Given the description of an element on the screen output the (x, y) to click on. 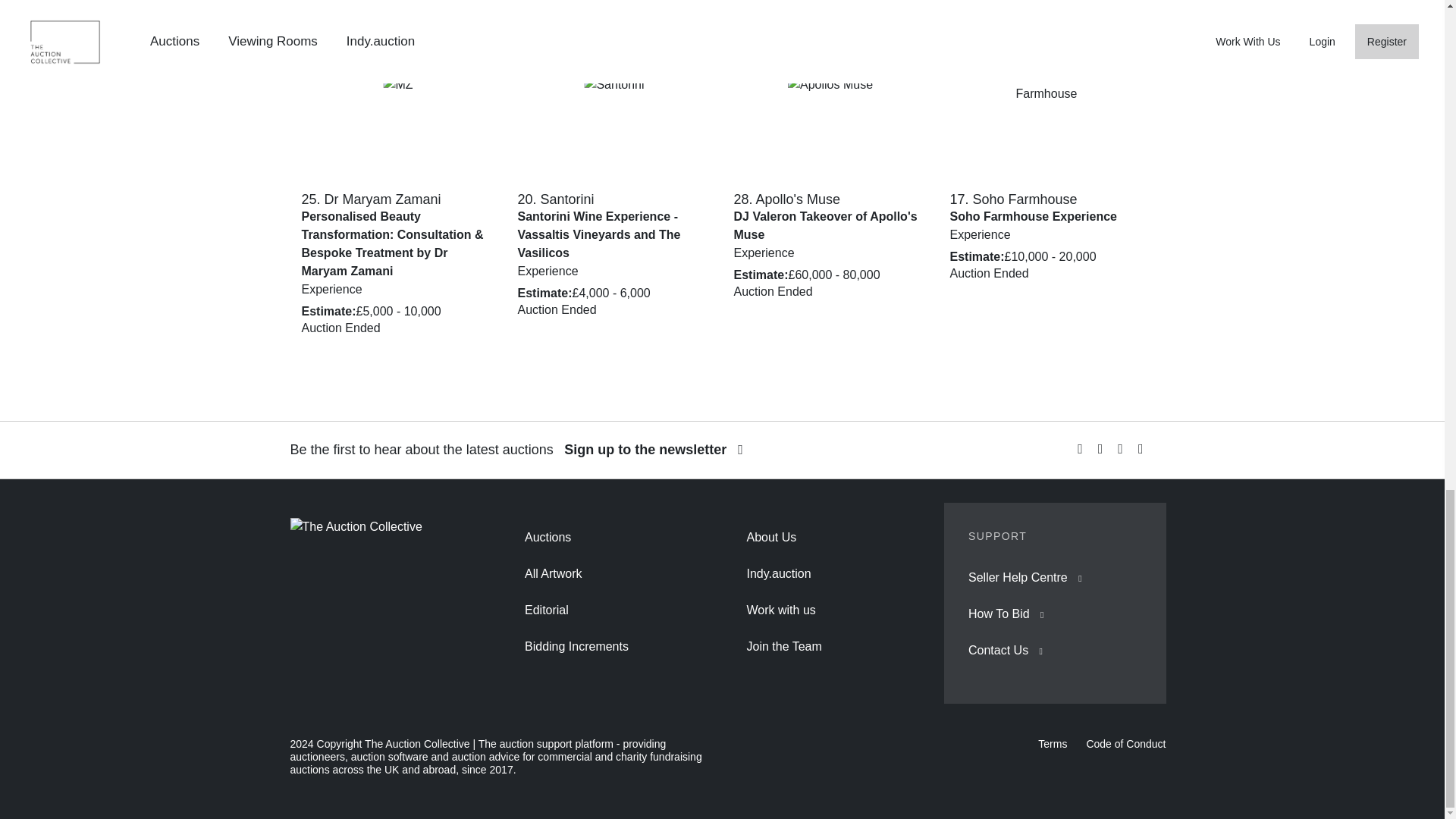
Join the Team (783, 645)
Sign up to the newsletter (653, 449)
All Artwork (553, 573)
Contact Us (997, 649)
How To Bid (998, 613)
About Us (770, 536)
Auctions (547, 536)
Indy.auction (777, 573)
Work with us (780, 609)
Seller Help Centre (1017, 576)
